Given the description of an element on the screen output the (x, y) to click on. 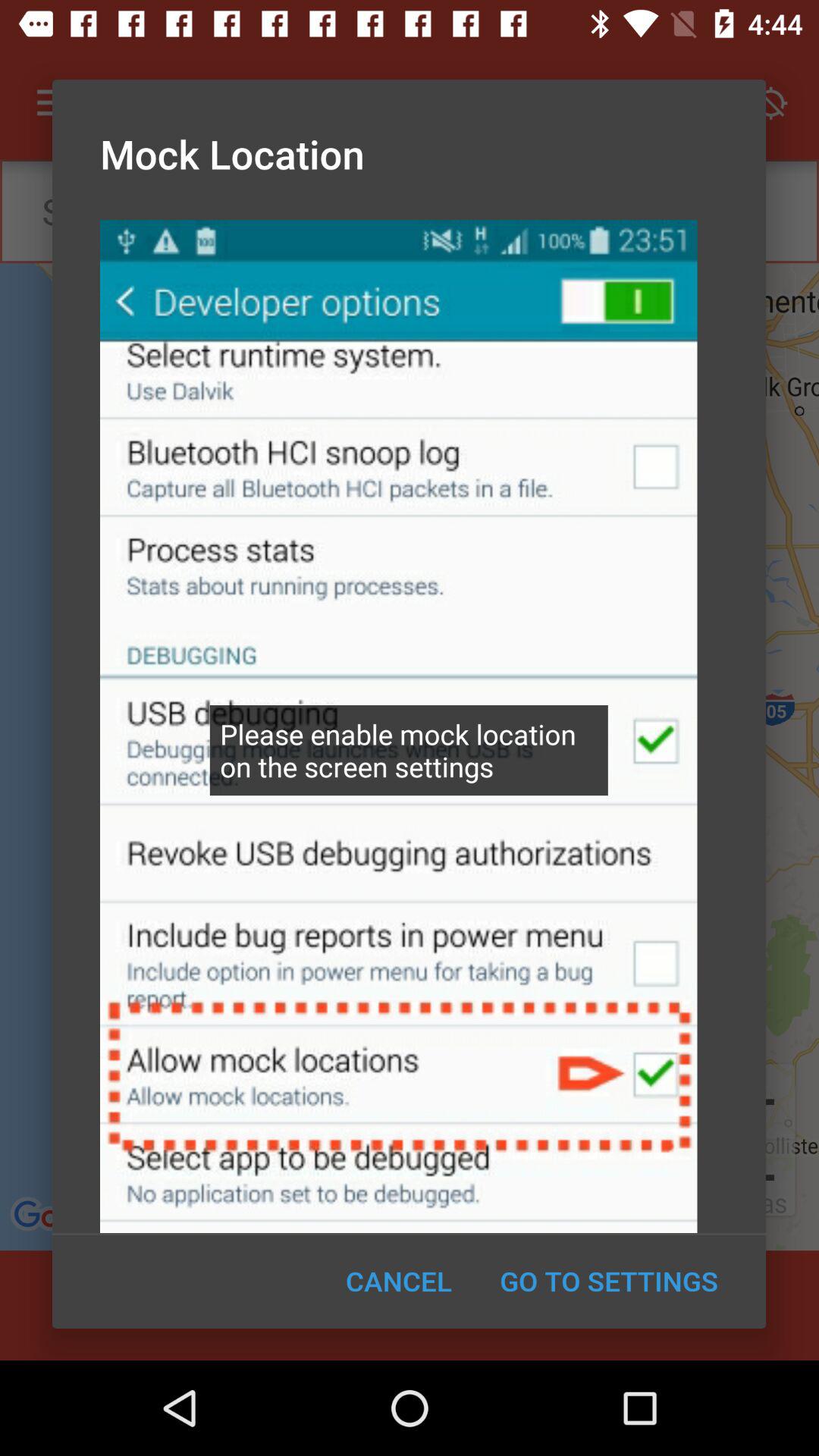
press item to the left of the go to settings (398, 1280)
